Given the description of an element on the screen output the (x, y) to click on. 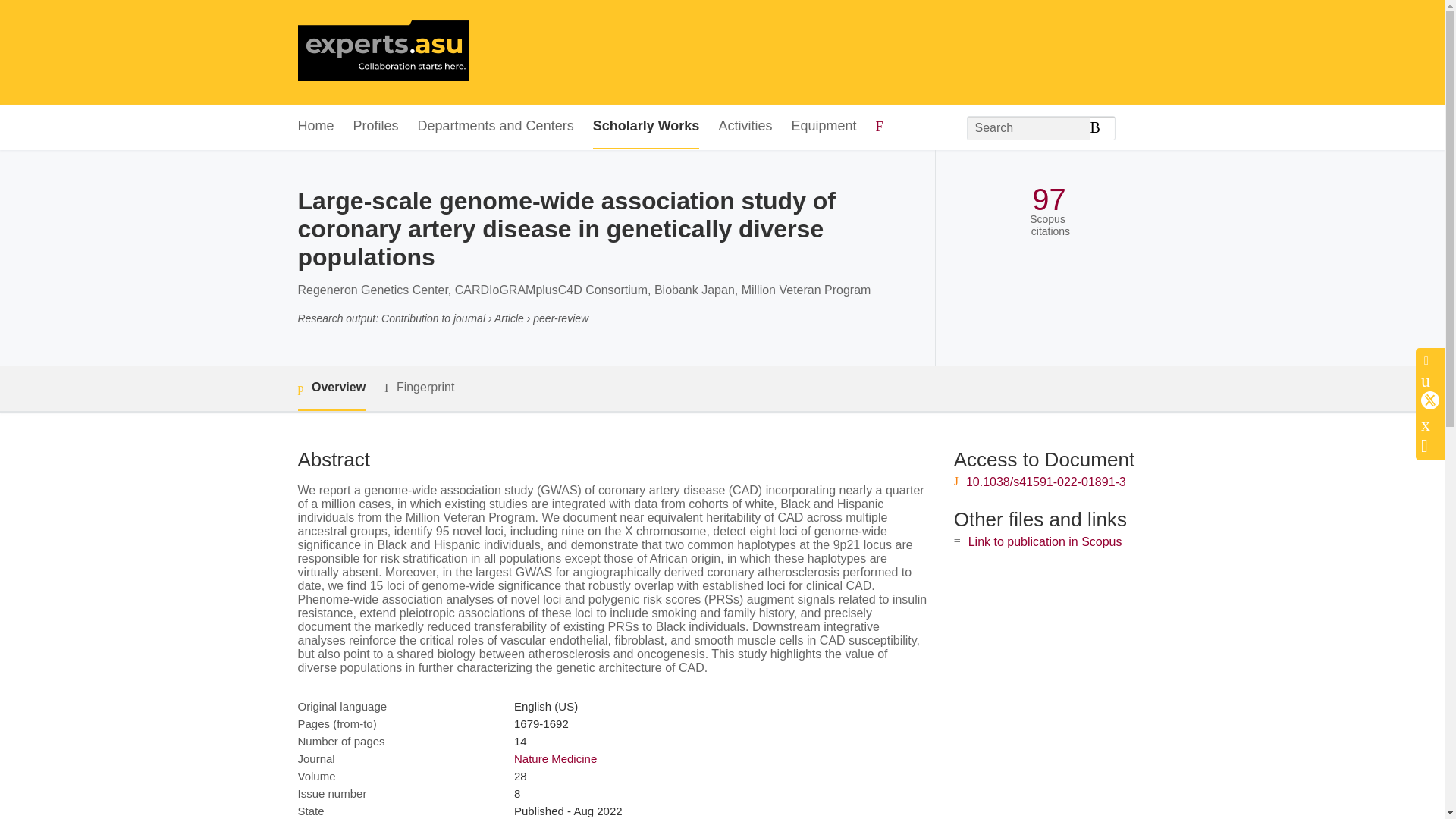
97 (1048, 199)
Overview (331, 388)
Scholarly Works (646, 126)
Activities (744, 126)
Departments and Centers (495, 126)
Fingerprint (419, 387)
Equipment (823, 126)
Link to publication in Scopus (1045, 541)
Nature Medicine (554, 758)
